Given the description of an element on the screen output the (x, y) to click on. 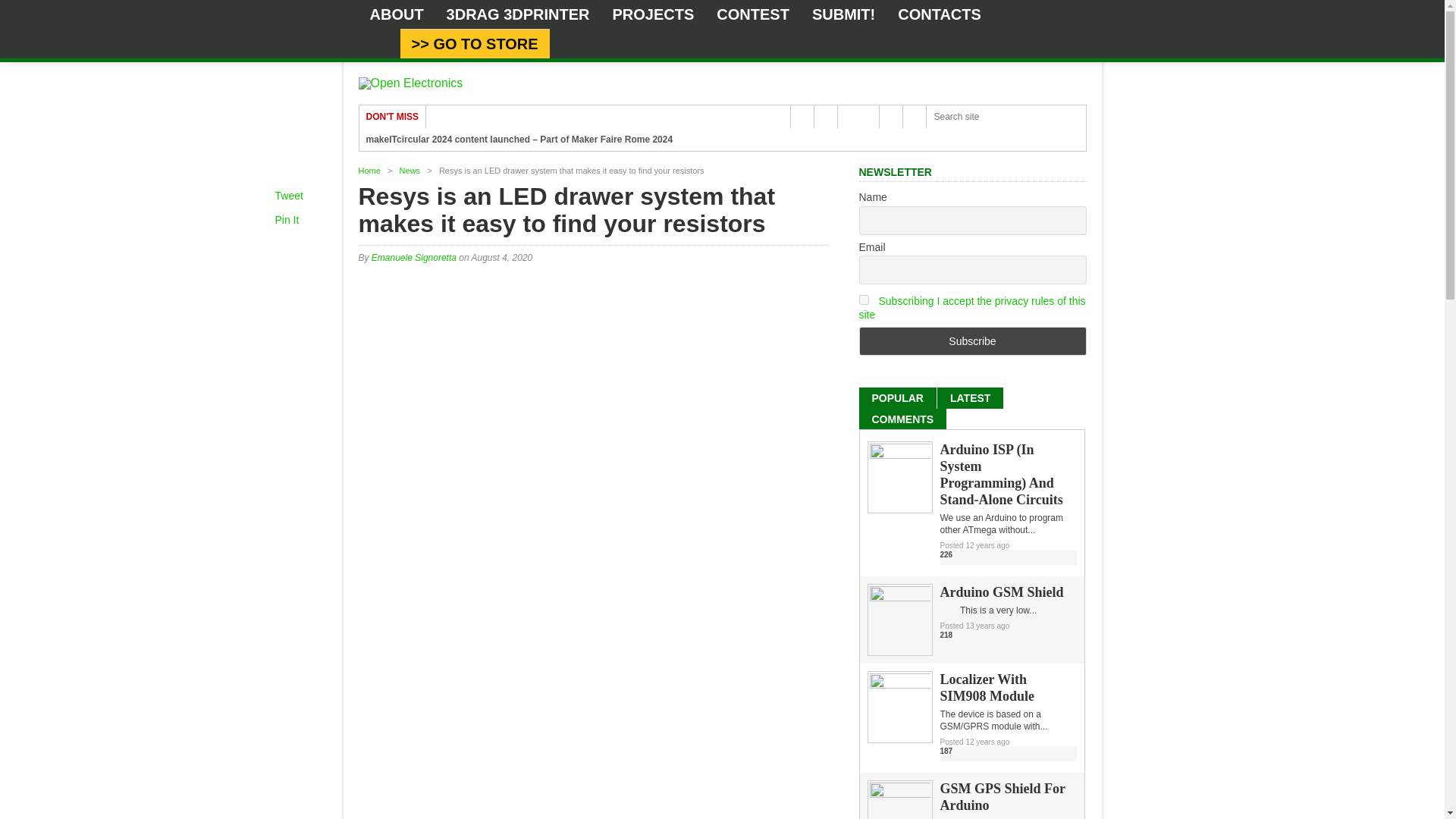
Emanuele Signoretta (414, 257)
CONTEST (752, 13)
ABOUT (396, 13)
Arduino GSM shield (899, 597)
Tweet (288, 195)
Posts by Emanuele Signoretta (414, 257)
CONTACTS (939, 13)
Localizer with SIM908 module (899, 685)
on (863, 299)
News (409, 170)
3DRAG 3DPRINTER (517, 13)
Home (369, 170)
Subscribe (972, 340)
Search site (1006, 116)
GSM GPS shield for Arduino (899, 794)
